Given the description of an element on the screen output the (x, y) to click on. 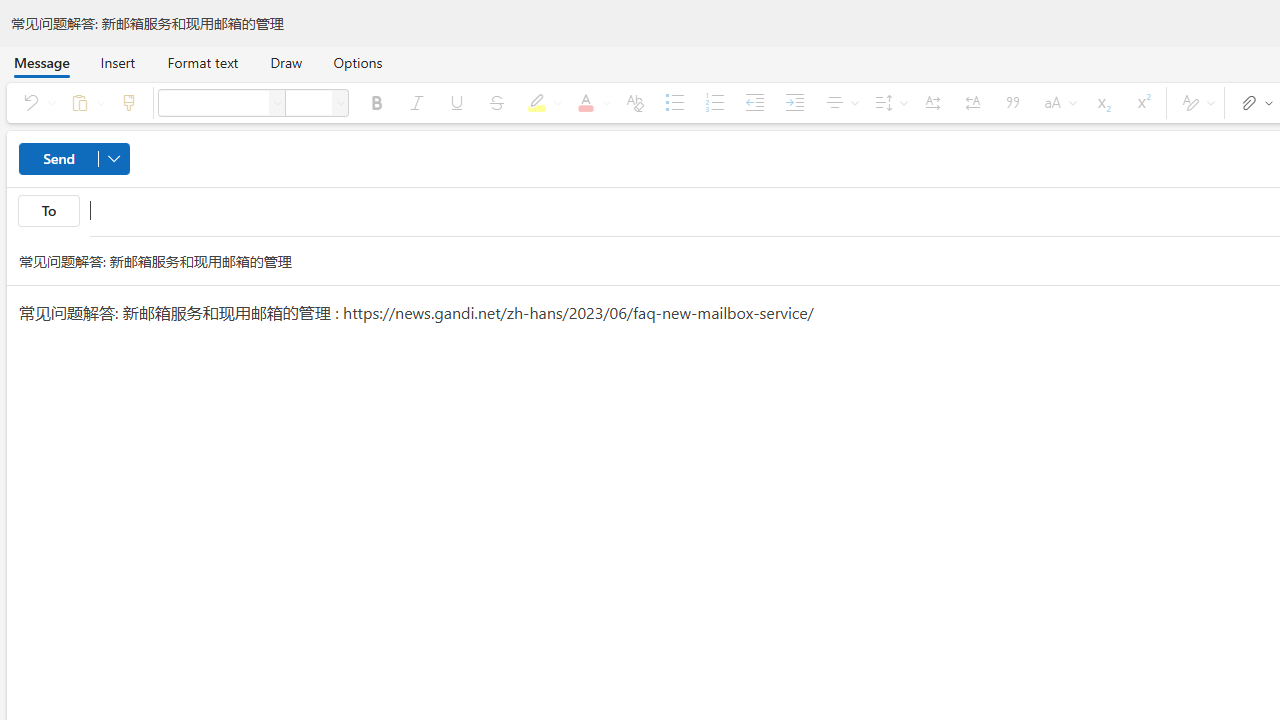
Draw (285, 61)
Subscript (1101, 102)
Font (277, 102)
Underline (456, 102)
Left-to-right (932, 102)
Italic (416, 102)
Align (839, 102)
